Given the description of an element on the screen output the (x, y) to click on. 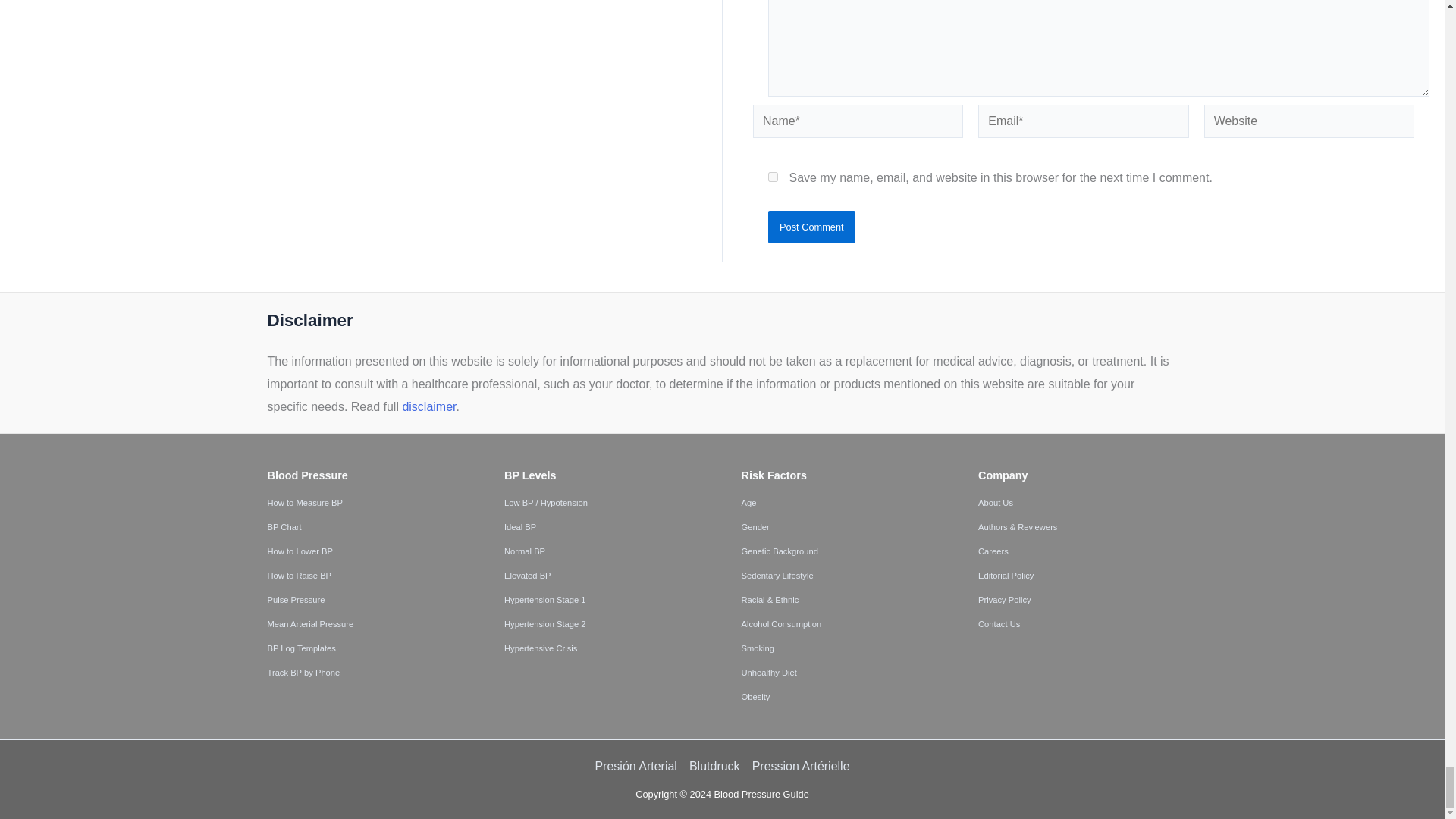
yes (772, 176)
Post Comment (812, 227)
